Given the description of an element on the screen output the (x, y) to click on. 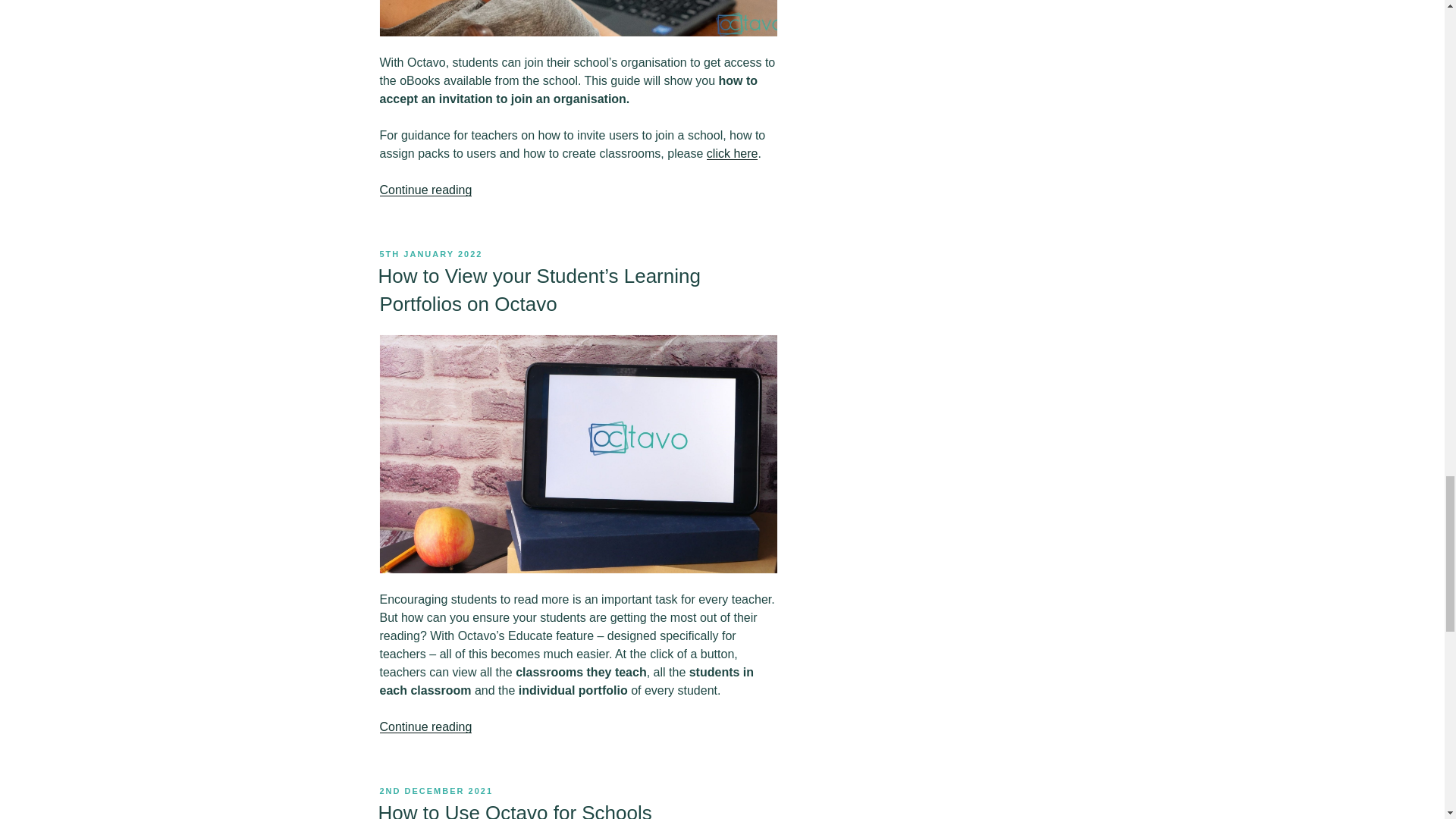
5TH JANUARY 2022 (429, 253)
2ND DECEMBER 2021 (435, 790)
How to Use Octavo for Schools (513, 810)
click here (732, 153)
